Given the description of an element on the screen output the (x, y) to click on. 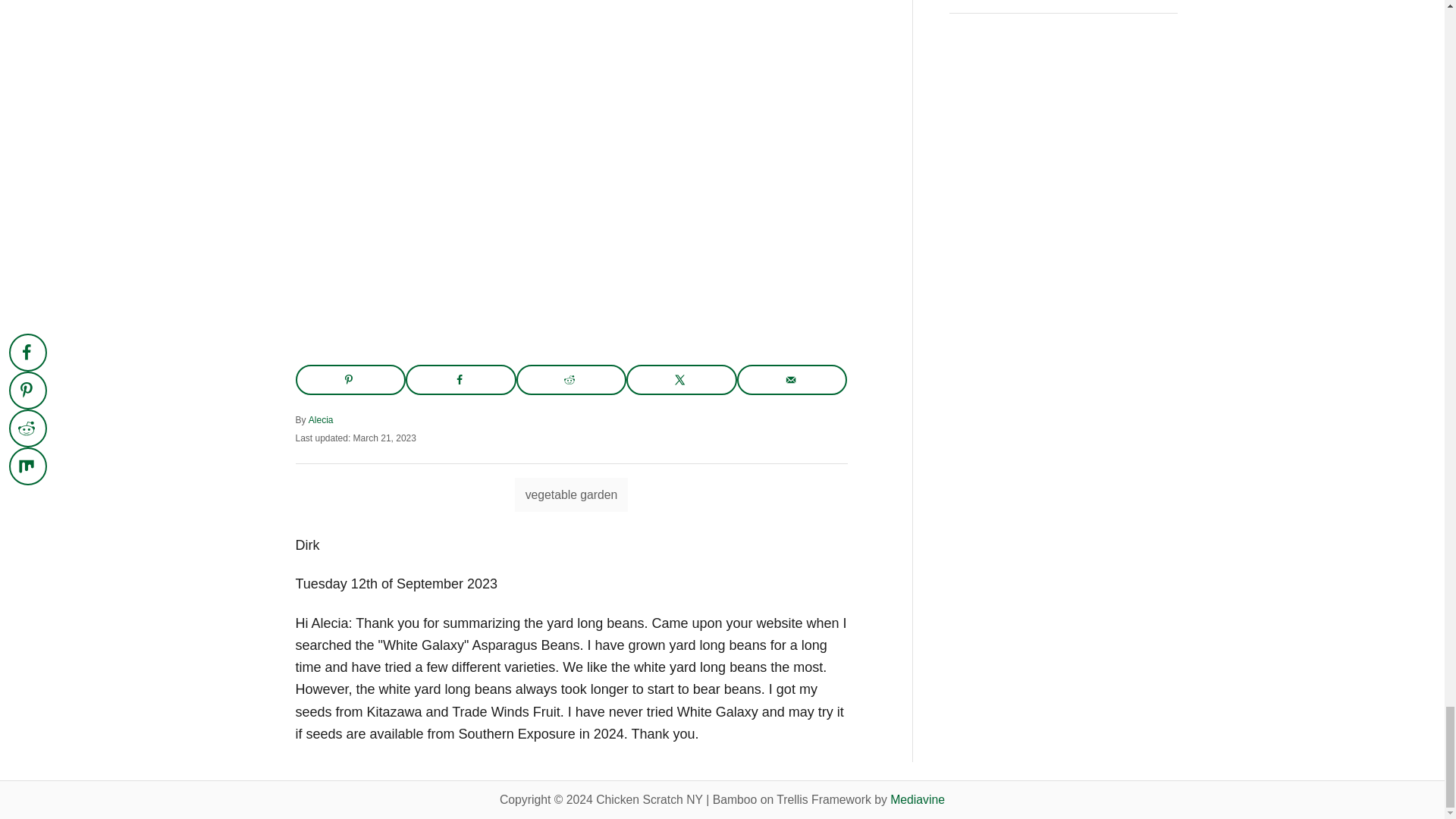
Share on Reddit (571, 379)
Save to Pinterest (350, 379)
Share on Facebook (461, 379)
Send over email (791, 379)
Share on X (681, 379)
